Given the description of an element on the screen output the (x, y) to click on. 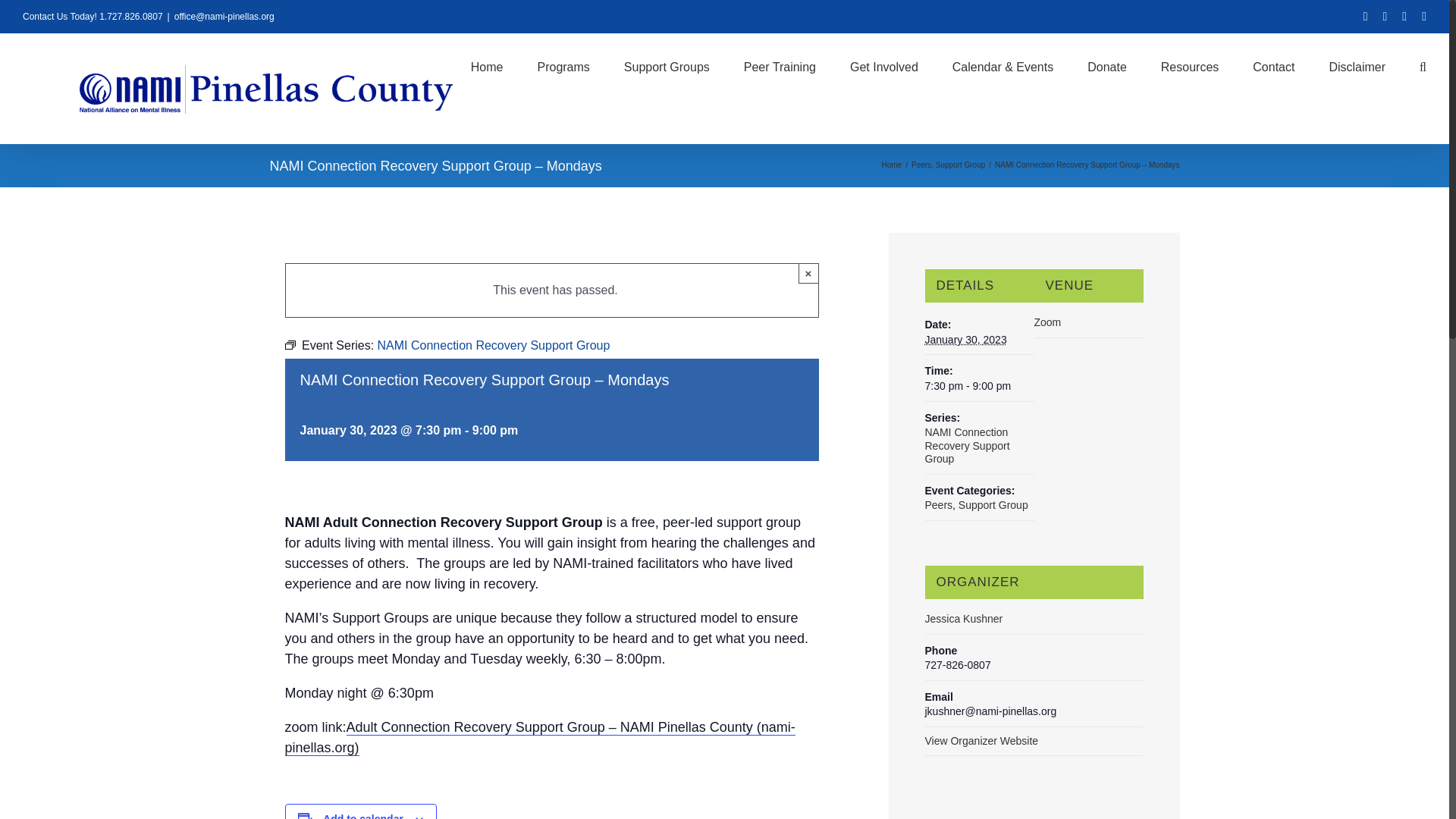
Support Groups (667, 65)
